Given the description of an element on the screen output the (x, y) to click on. 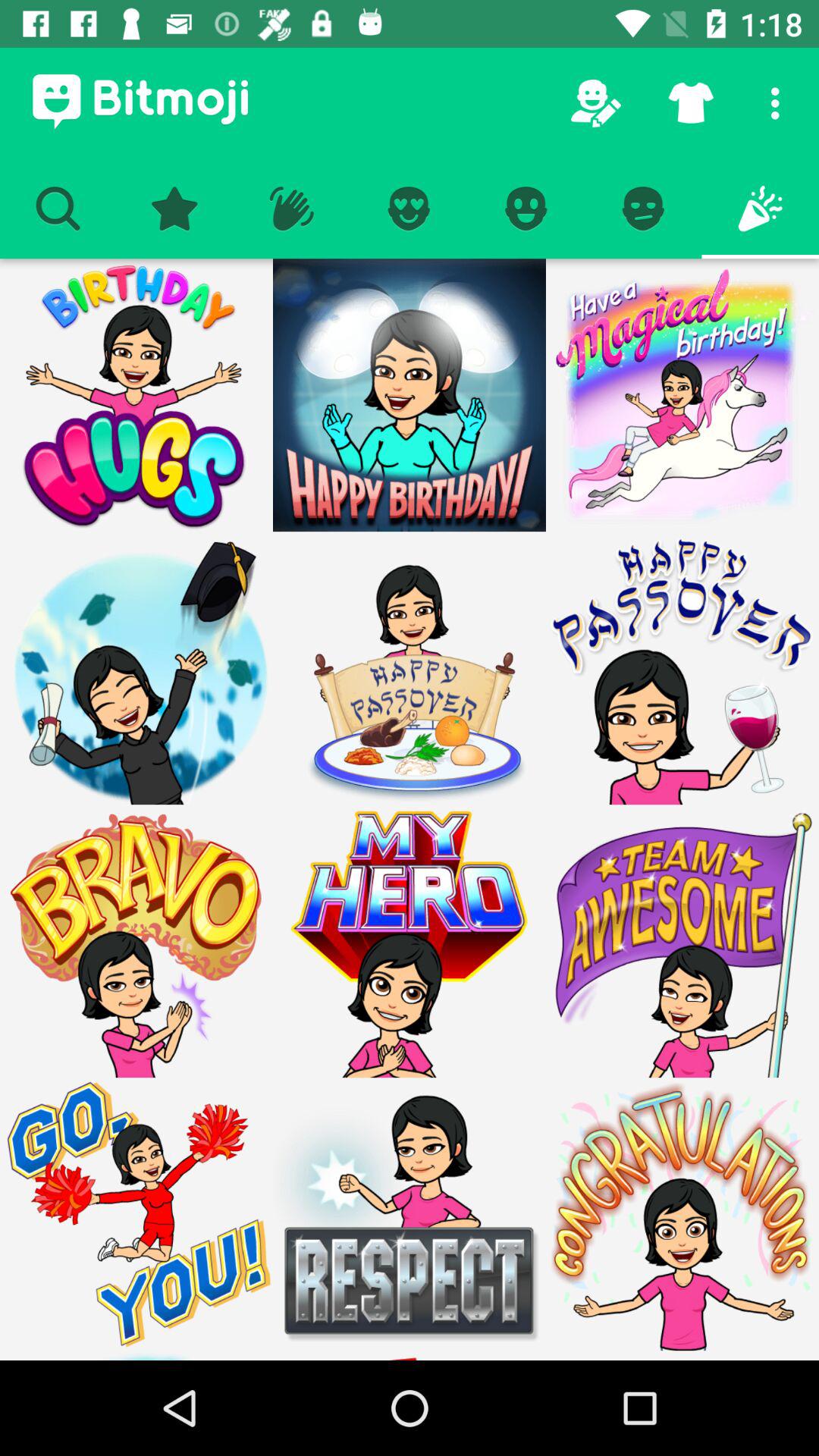
click to image (409, 940)
